Given the description of an element on the screen output the (x, y) to click on. 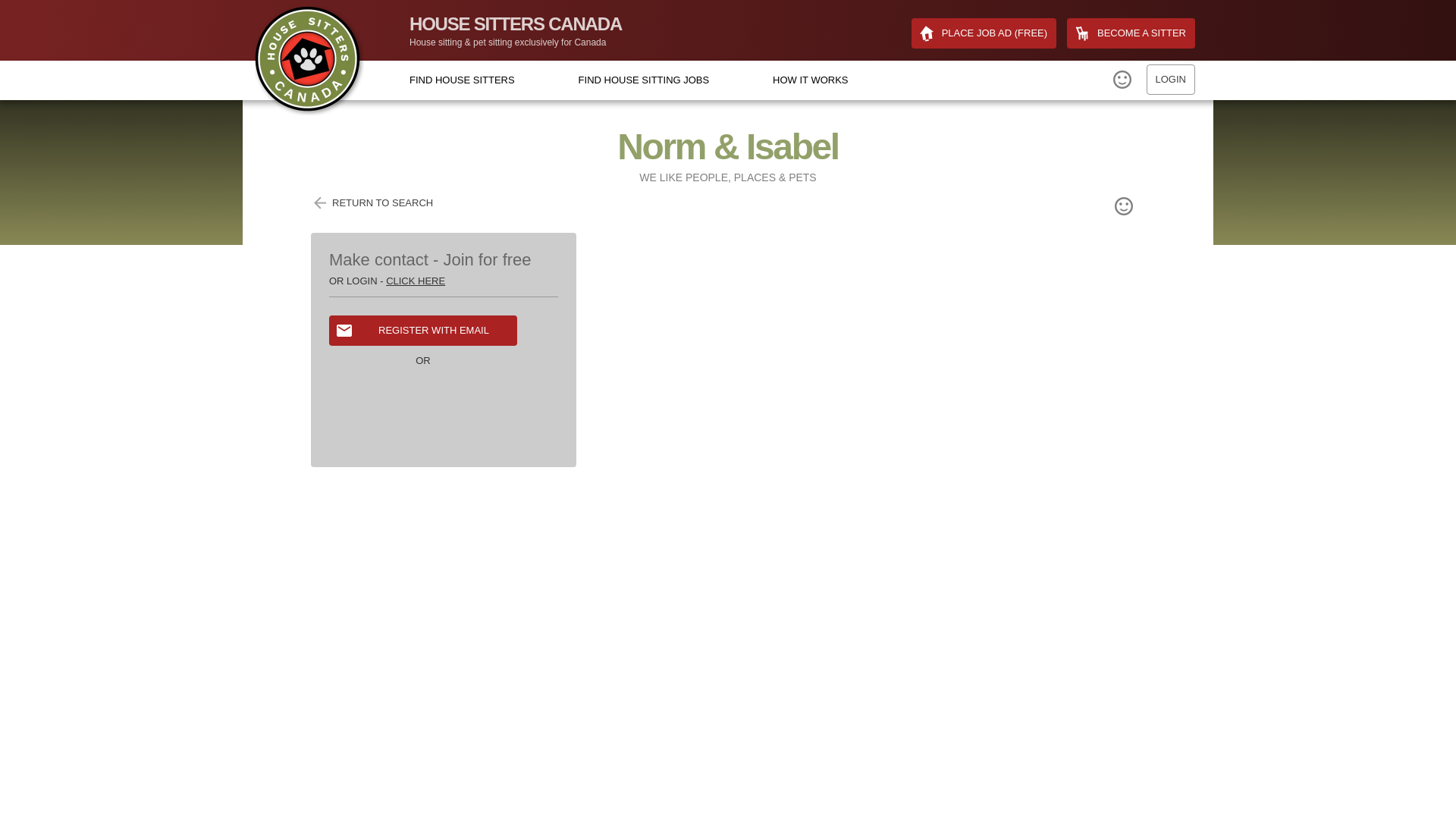
FIND HOUSE SITTING JOBS (644, 79)
BECOME A SITTER (1131, 33)
HOW IT WORKS (810, 79)
RETURN TO SEARCH (371, 202)
CLICK HERE (415, 280)
REGISTER WITH EMAIL (422, 330)
LOGIN (1171, 79)
FIND HOUSE SITTERS (462, 79)
